Given the description of an element on the screen output the (x, y) to click on. 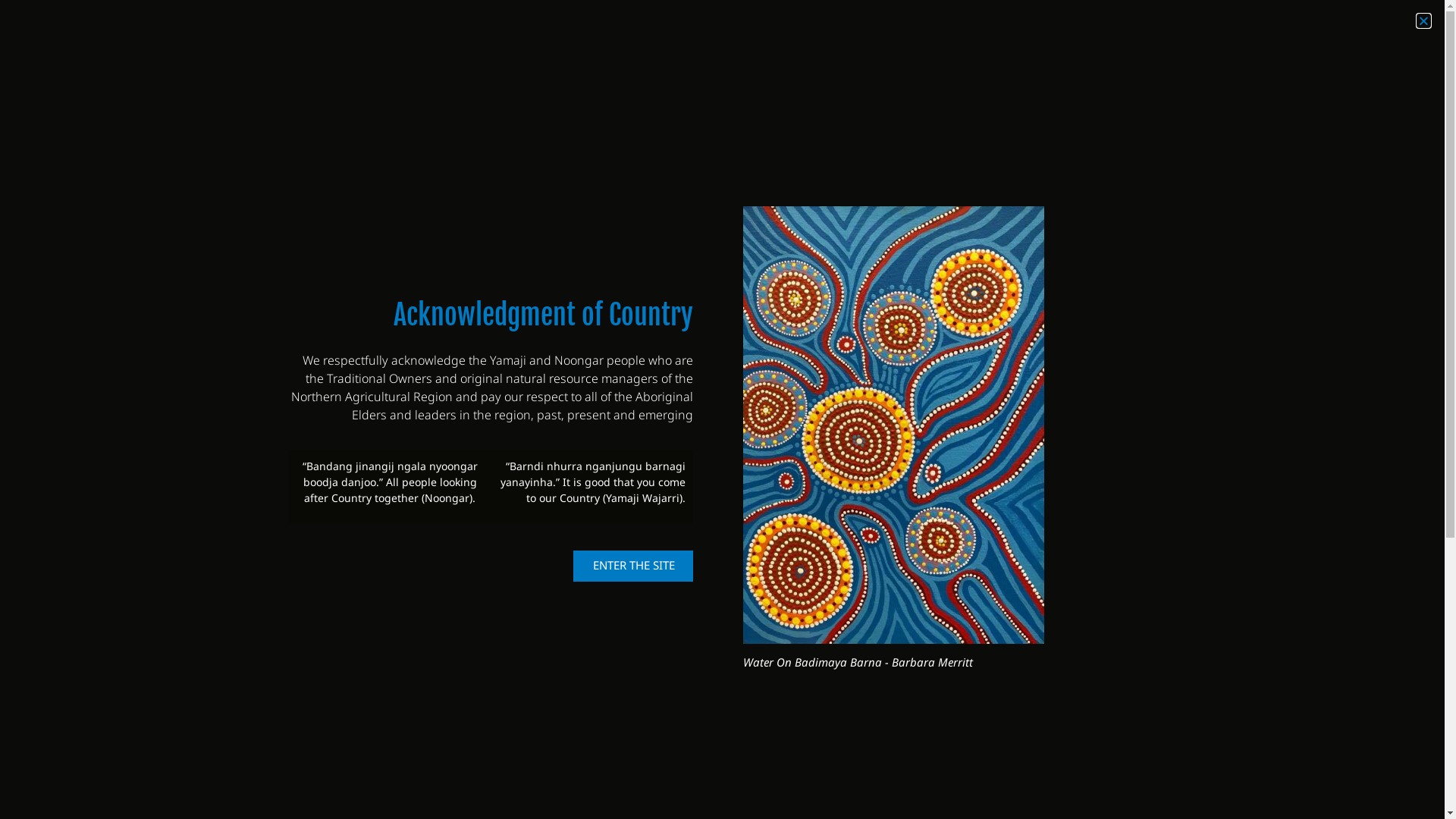
THE REGION Element type: text (851, 77)
GET INVOLVED Element type: text (1289, 77)
NRM STRATEGY Element type: text (736, 77)
REPORT CARD Element type: text (1068, 77)
RESOURCES Element type: text (1178, 77)
NRM GOALS Element type: text (958, 77)
ENTER THE SITE Element type: text (633, 565)
HOME Element type: text (644, 77)
